Given the description of an element on the screen output the (x, y) to click on. 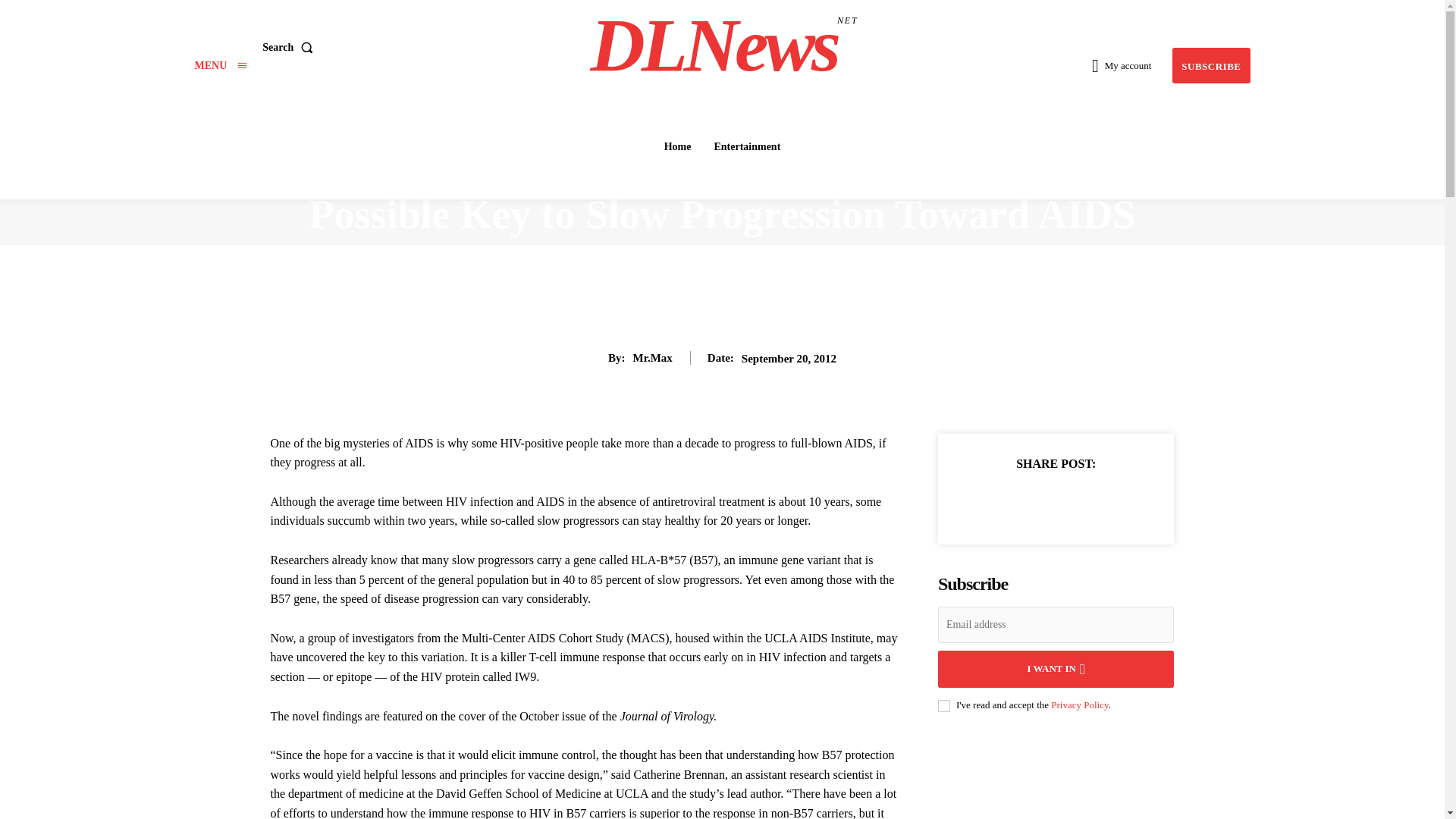
Subscribe (1210, 65)
Menu (220, 65)
Mr.Max (651, 357)
MENU (220, 65)
Entertainment (746, 146)
Search (290, 47)
SUBSCRIBE (724, 45)
Home (1210, 65)
ENTERTAINMENT (677, 146)
